Given the description of an element on the screen output the (x, y) to click on. 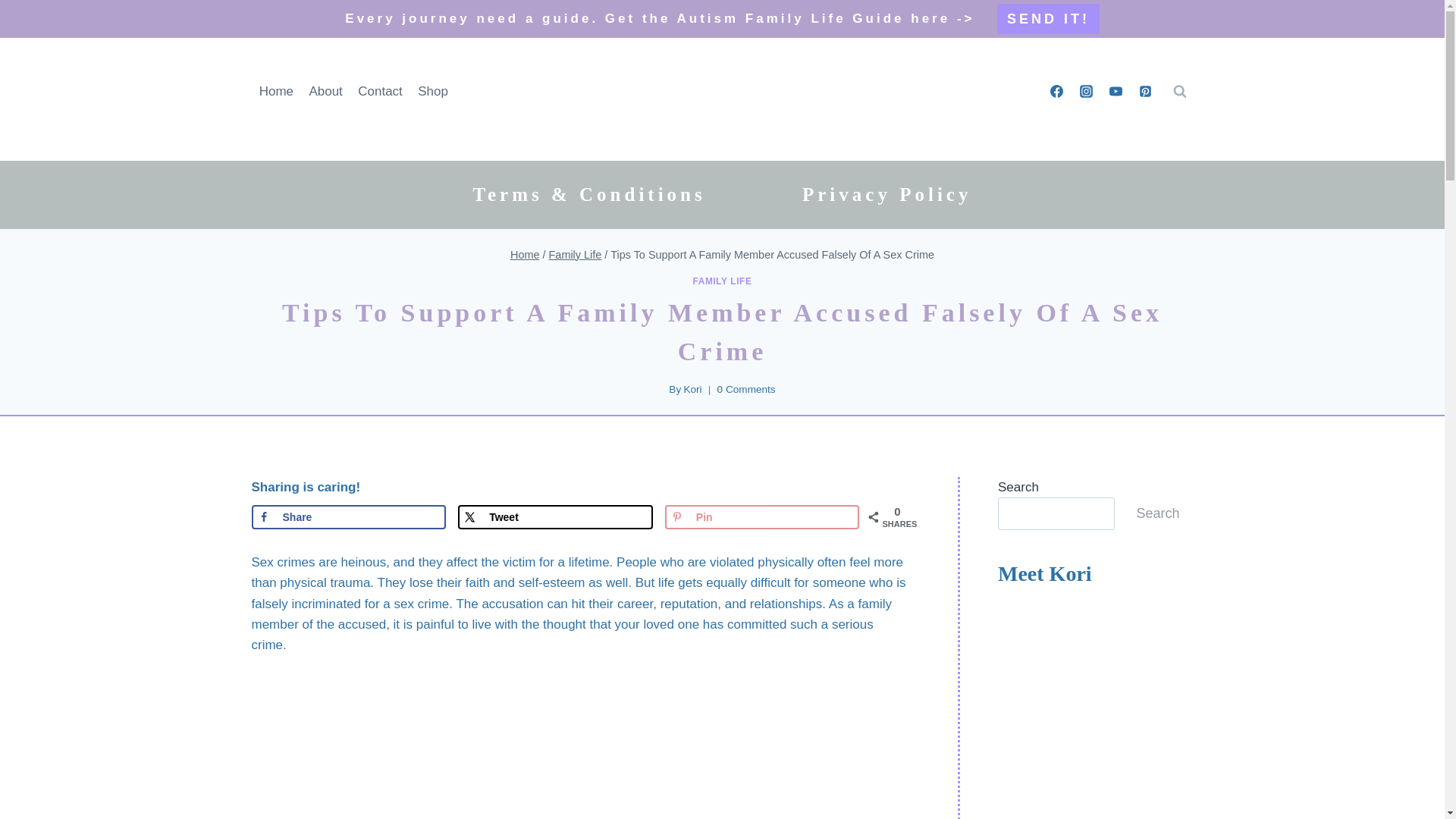
0 Comments (746, 389)
Family Life (575, 254)
Save to Pinterest (762, 517)
SEND IT! (1048, 19)
About (325, 91)
Home (276, 91)
Home (525, 254)
Share on X (555, 517)
Kori (691, 389)
Share (348, 517)
Share on Facebook (348, 517)
Shop (432, 91)
FAMILY LIFE (722, 281)
Privacy Policy (887, 194)
Tweet (555, 517)
